Given the description of an element on the screen output the (x, y) to click on. 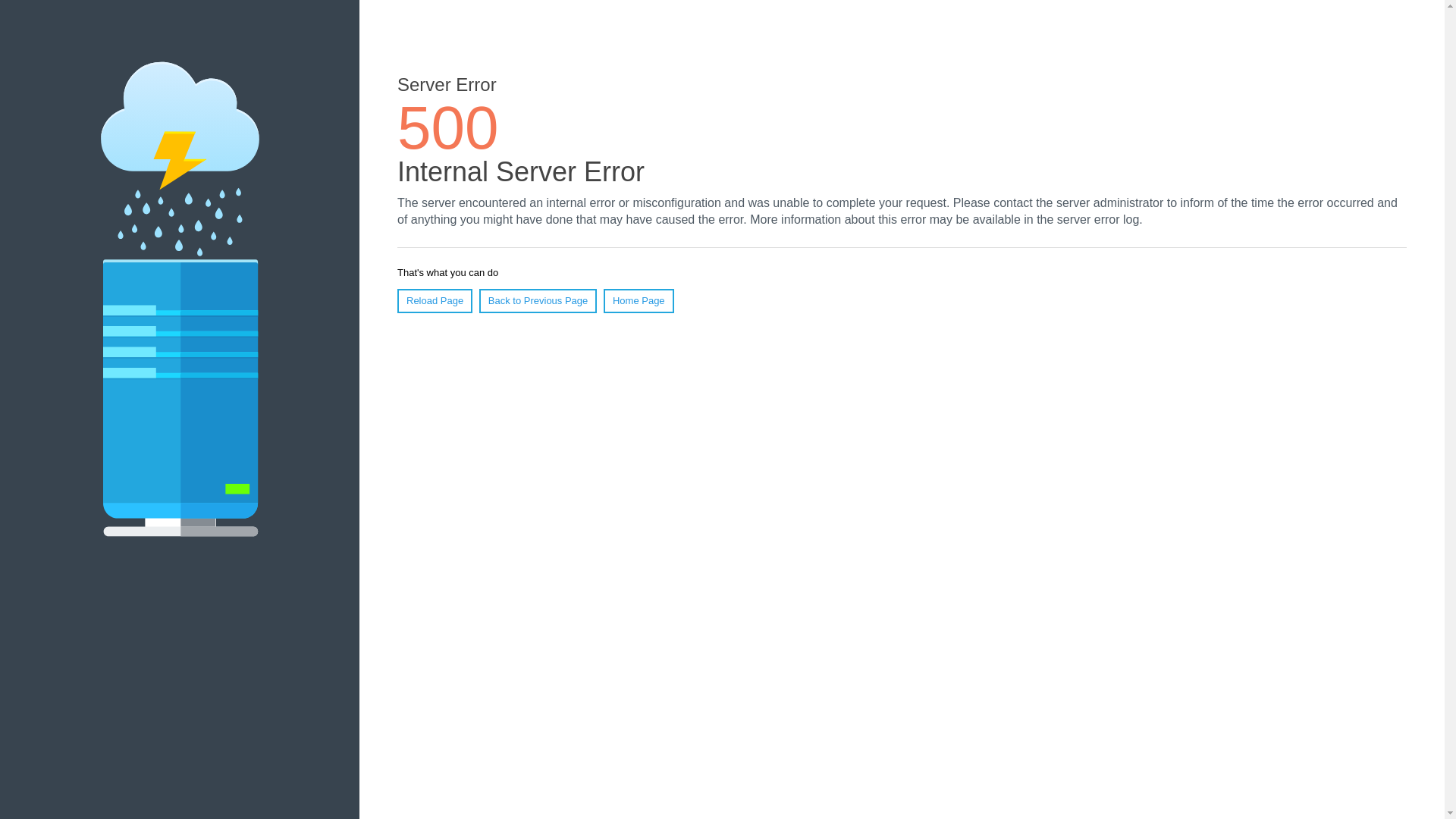
Back to Previous Page (537, 300)
Home Page (639, 300)
Reload Page (434, 300)
